Given the description of an element on the screen output the (x, y) to click on. 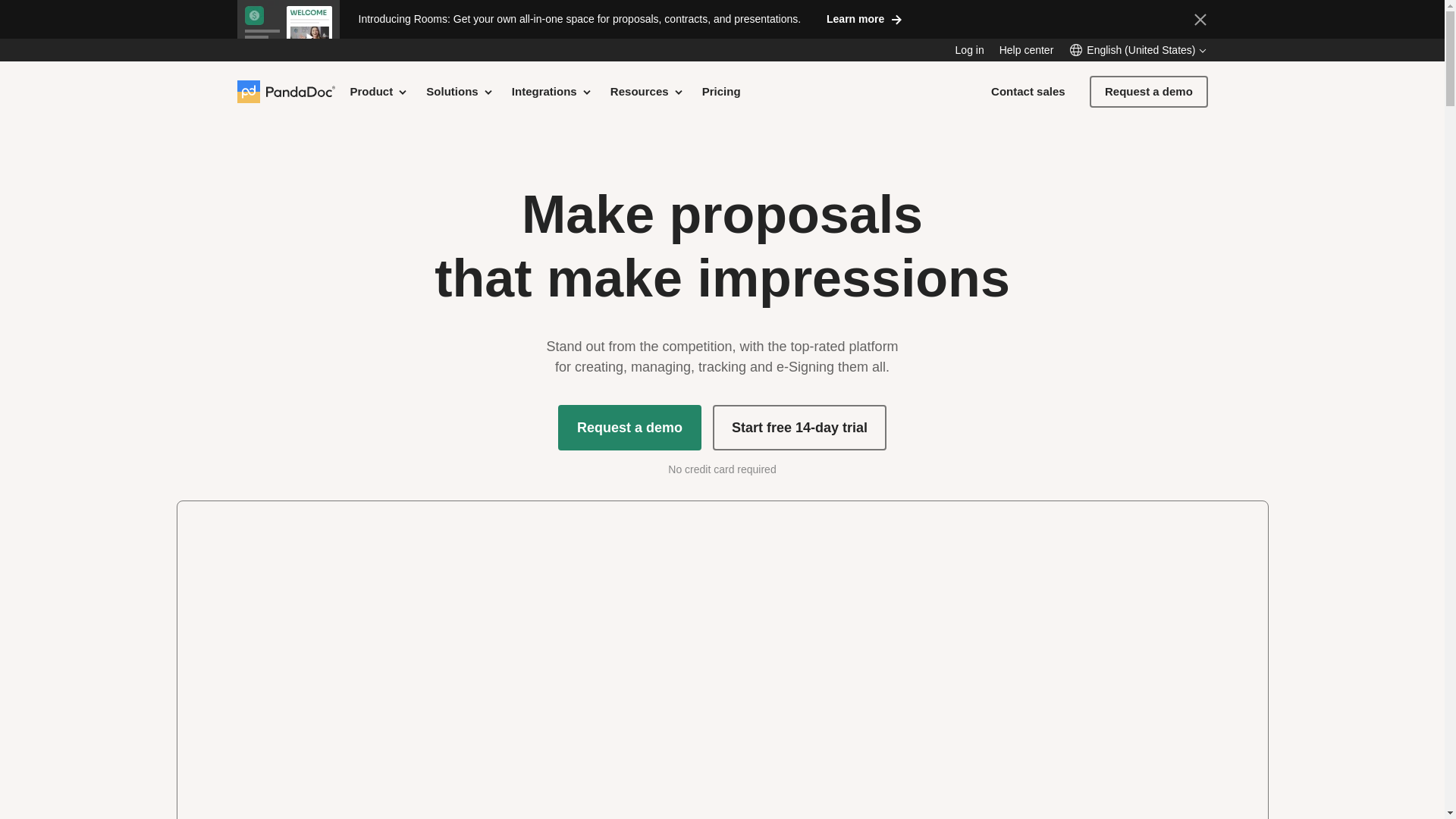
Solutions (459, 91)
Product (379, 91)
Log in (969, 50)
Help center (1026, 50)
Learn more (864, 18)
